Given the description of an element on the screen output the (x, y) to click on. 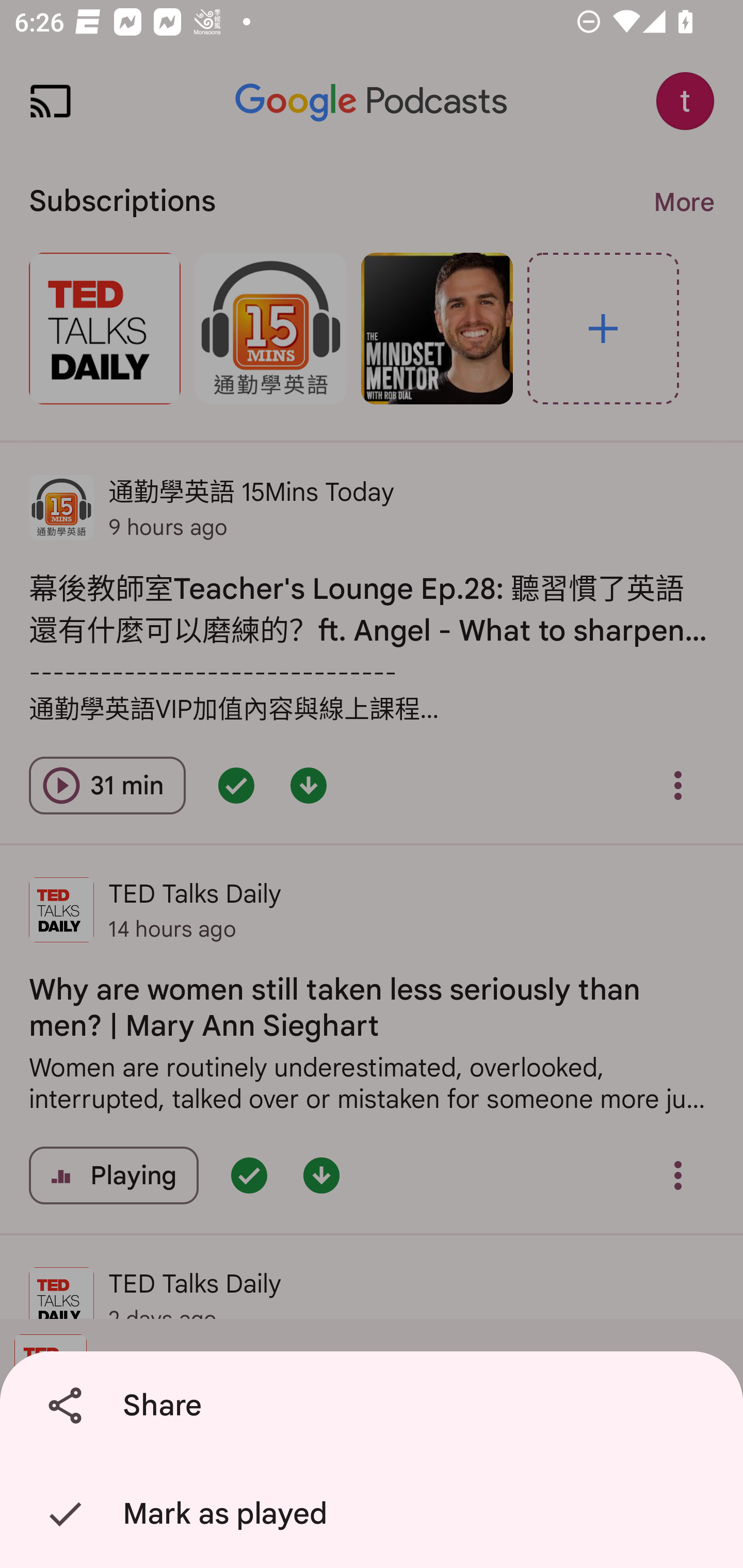
Share (375, 1405)
Mark as played (375, 1513)
